Given the description of an element on the screen output the (x, y) to click on. 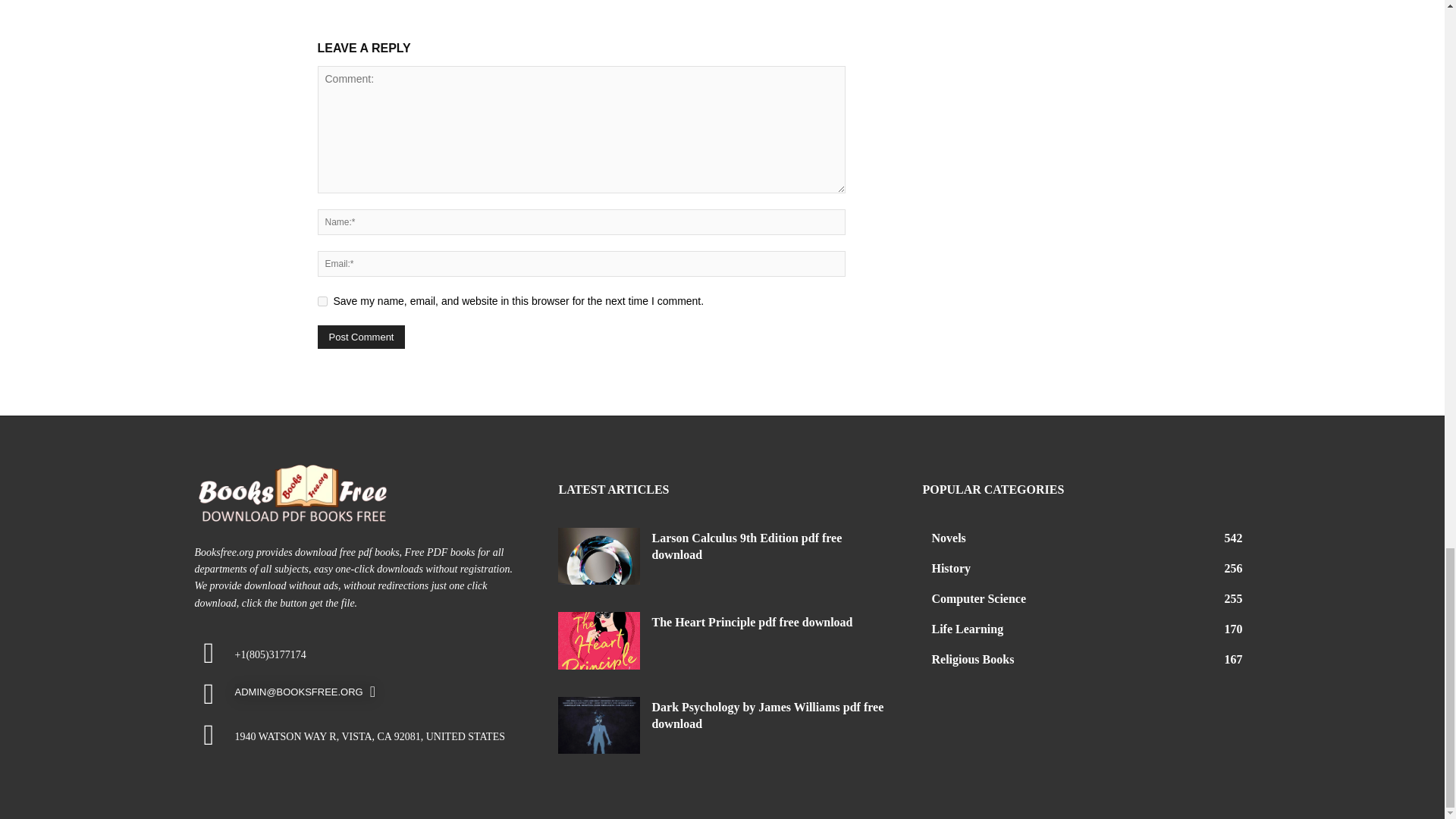
yes (321, 301)
Post Comment (360, 336)
